Given the description of an element on the screen output the (x, y) to click on. 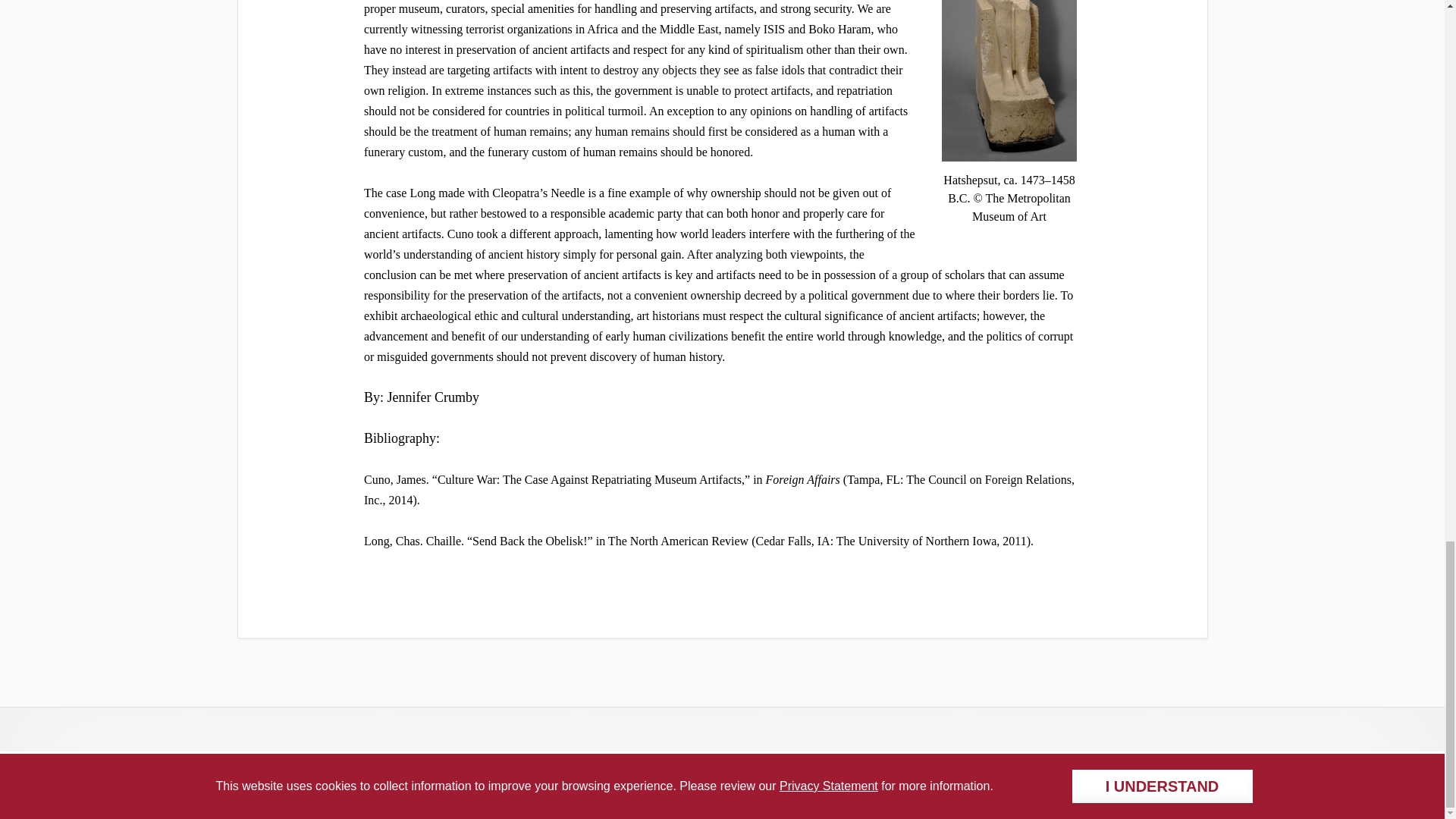
Disclaimer (721, 788)
Alabama Digital Humanities Center (721, 770)
